Given the description of an element on the screen output the (x, y) to click on. 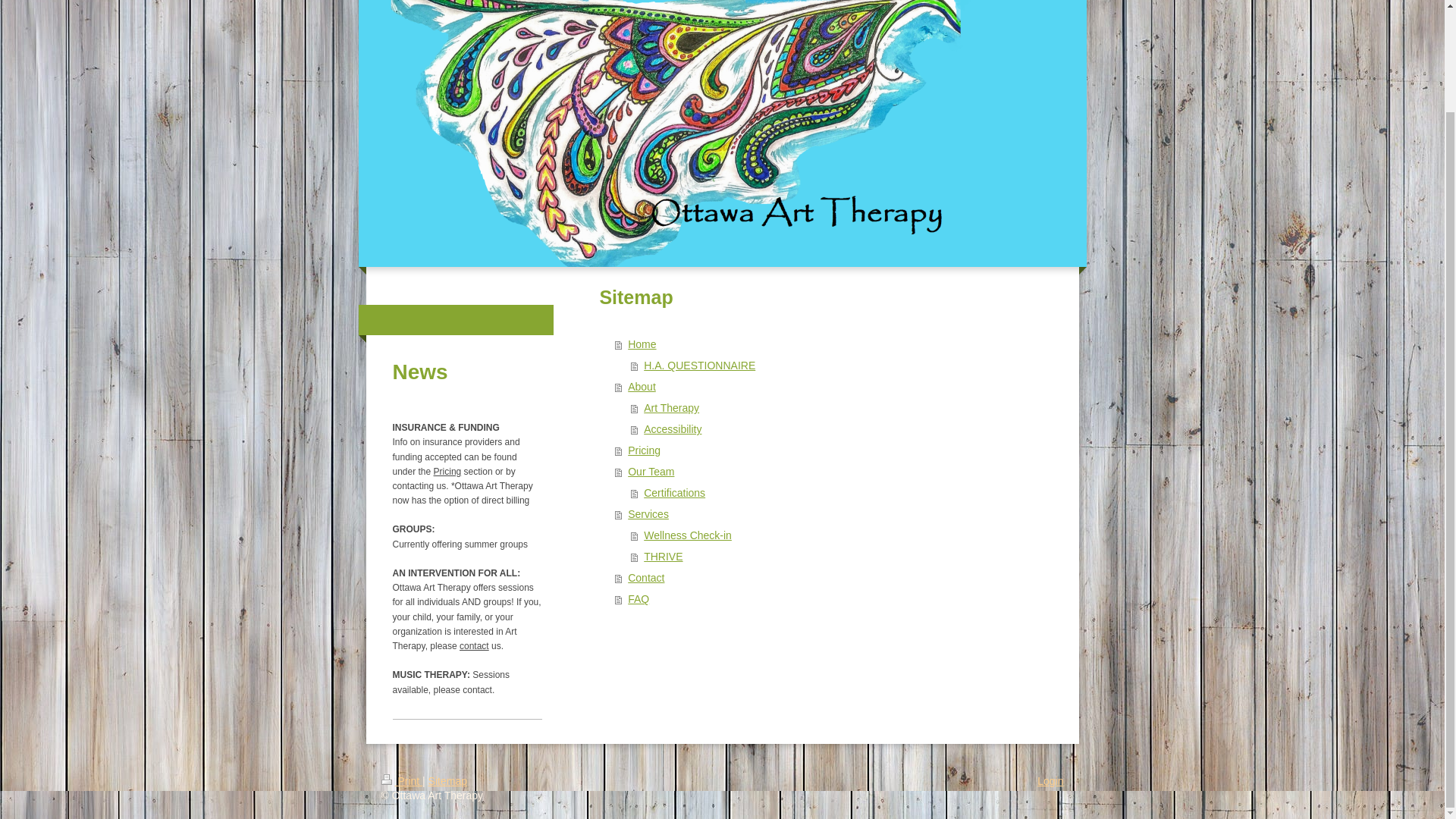
Accessibility (839, 428)
Pricing (447, 471)
H.A. QUESTIONNAIRE (839, 364)
Our Team (831, 471)
FAQ (831, 598)
Art Therapy (839, 407)
contact (474, 645)
THRIVE (839, 556)
About (831, 386)
Wellness Check-in (839, 535)
